Given the description of an element on the screen output the (x, y) to click on. 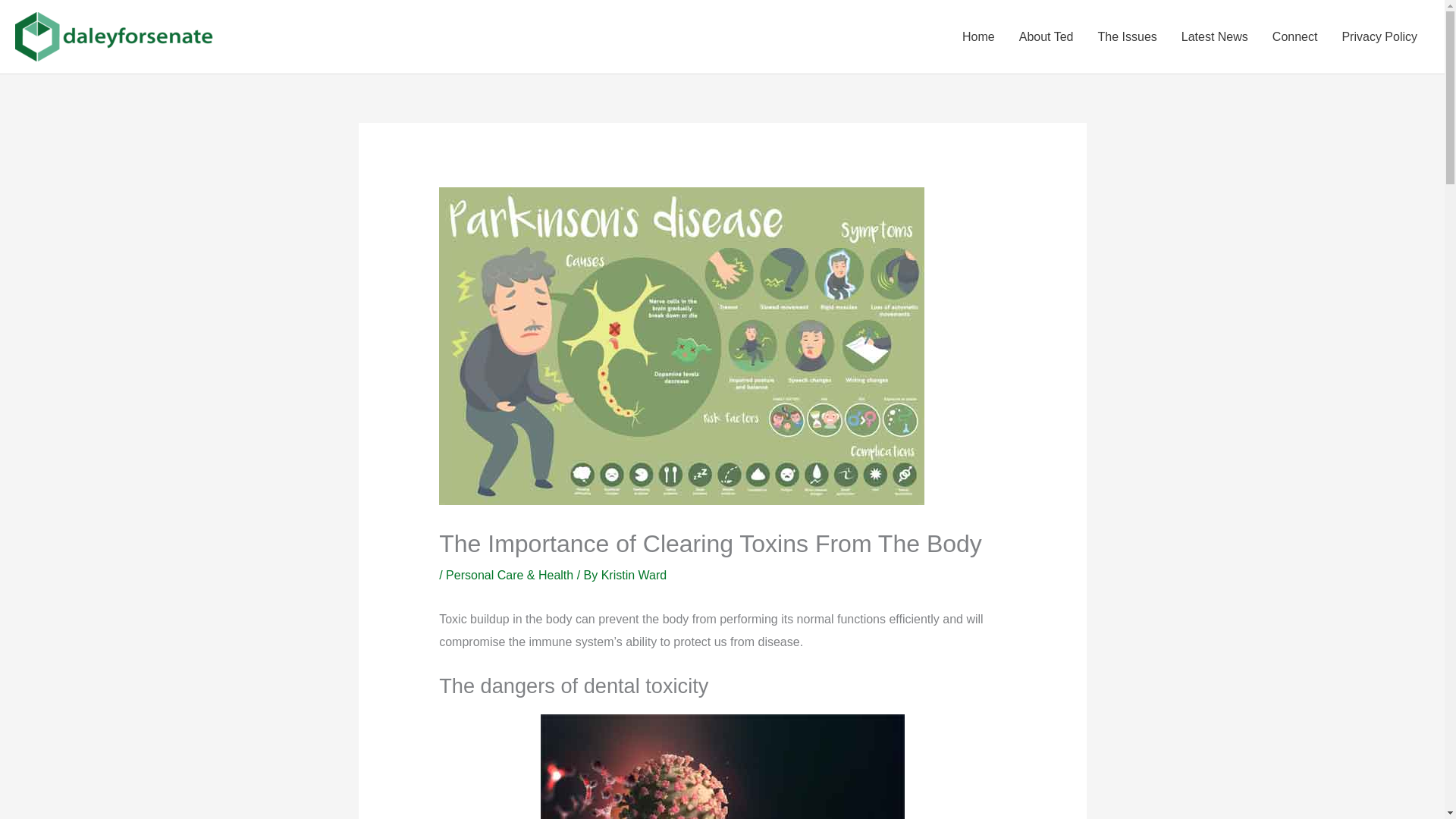
Privacy Policy (1379, 36)
Home (978, 36)
Connect (1295, 36)
About Ted (1046, 36)
Latest News (1214, 36)
View all posts by Kristin Ward (633, 574)
Kristin Ward (633, 574)
The Issues (1127, 36)
